Given the description of an element on the screen output the (x, y) to click on. 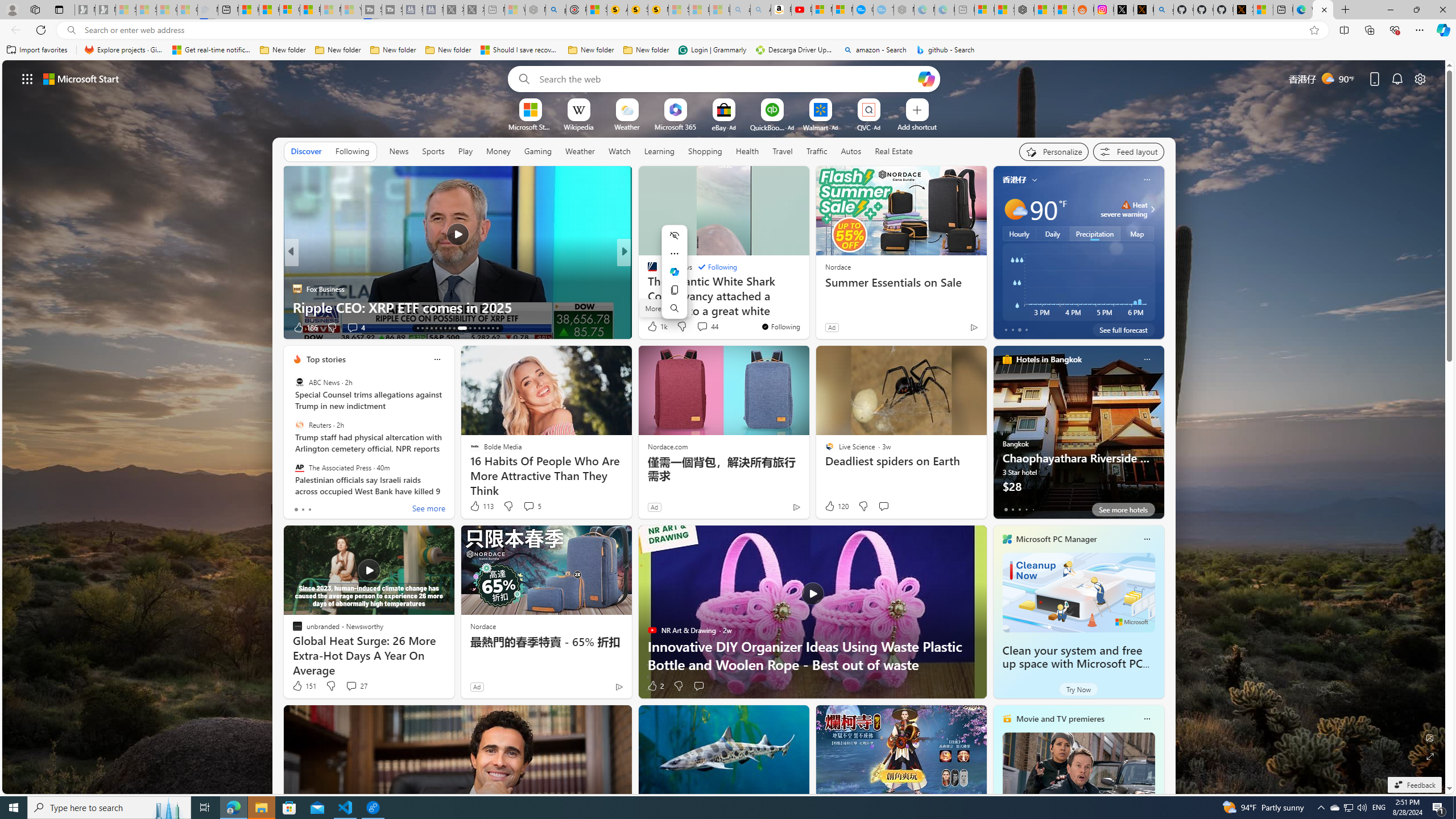
92 Like (652, 327)
AutomationID: tab-20 (449, 328)
Real Estate (893, 151)
Shopping (705, 151)
poe - Search (555, 9)
Money (498, 151)
See more (795, 179)
Amazon Echo Dot PNG - Search Images - Sleeping (760, 9)
App launcher (27, 78)
Nordace - Summer Adventures 2024 - Sleeping (534, 9)
Address and search bar (692, 29)
Open Copilot (925, 78)
